Given the description of an element on the screen output the (x, y) to click on. 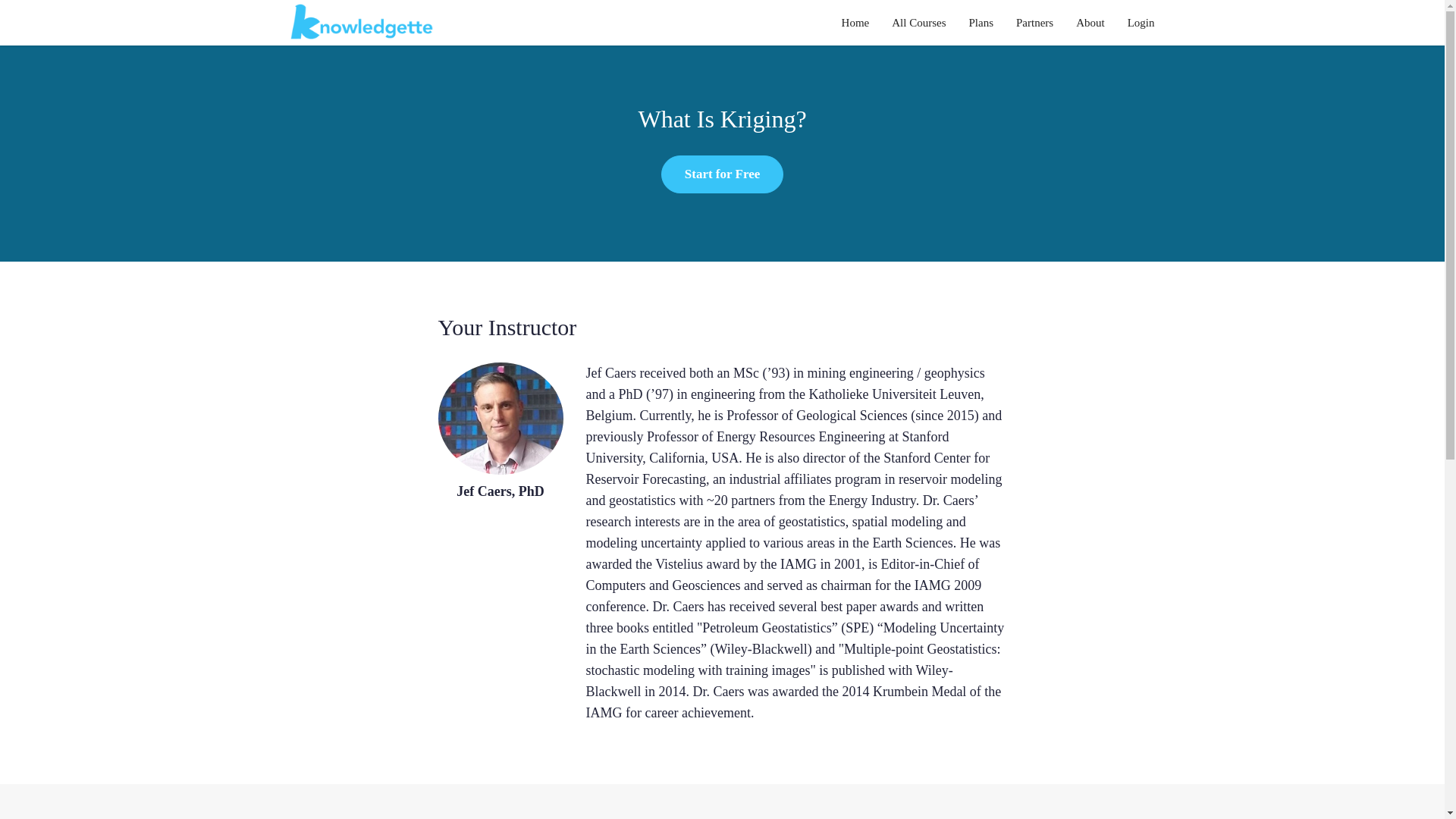
Partners (1034, 22)
Plans (980, 22)
Start for Free (722, 174)
About (1090, 22)
All Courses (918, 22)
Login (1141, 22)
Home (854, 22)
